Given the description of an element on the screen output the (x, y) to click on. 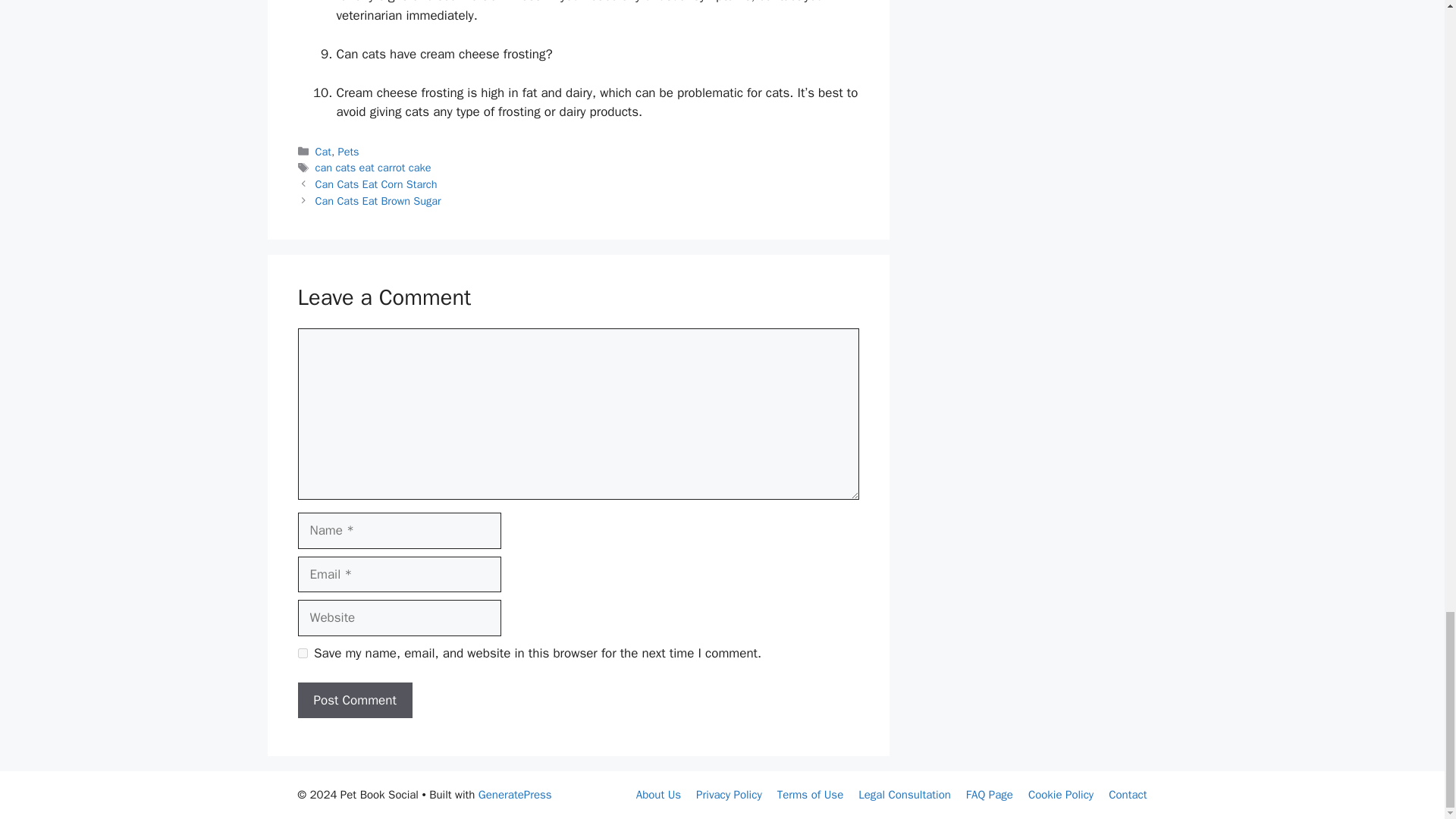
Can Cats Eat Corn Starch (376, 183)
Cat (323, 151)
Post Comment (354, 700)
Can Cats Eat Brown Sugar (378, 201)
yes (302, 653)
can cats eat carrot cake (372, 167)
Post Comment (354, 700)
Pets (348, 151)
